Given the description of an element on the screen output the (x, y) to click on. 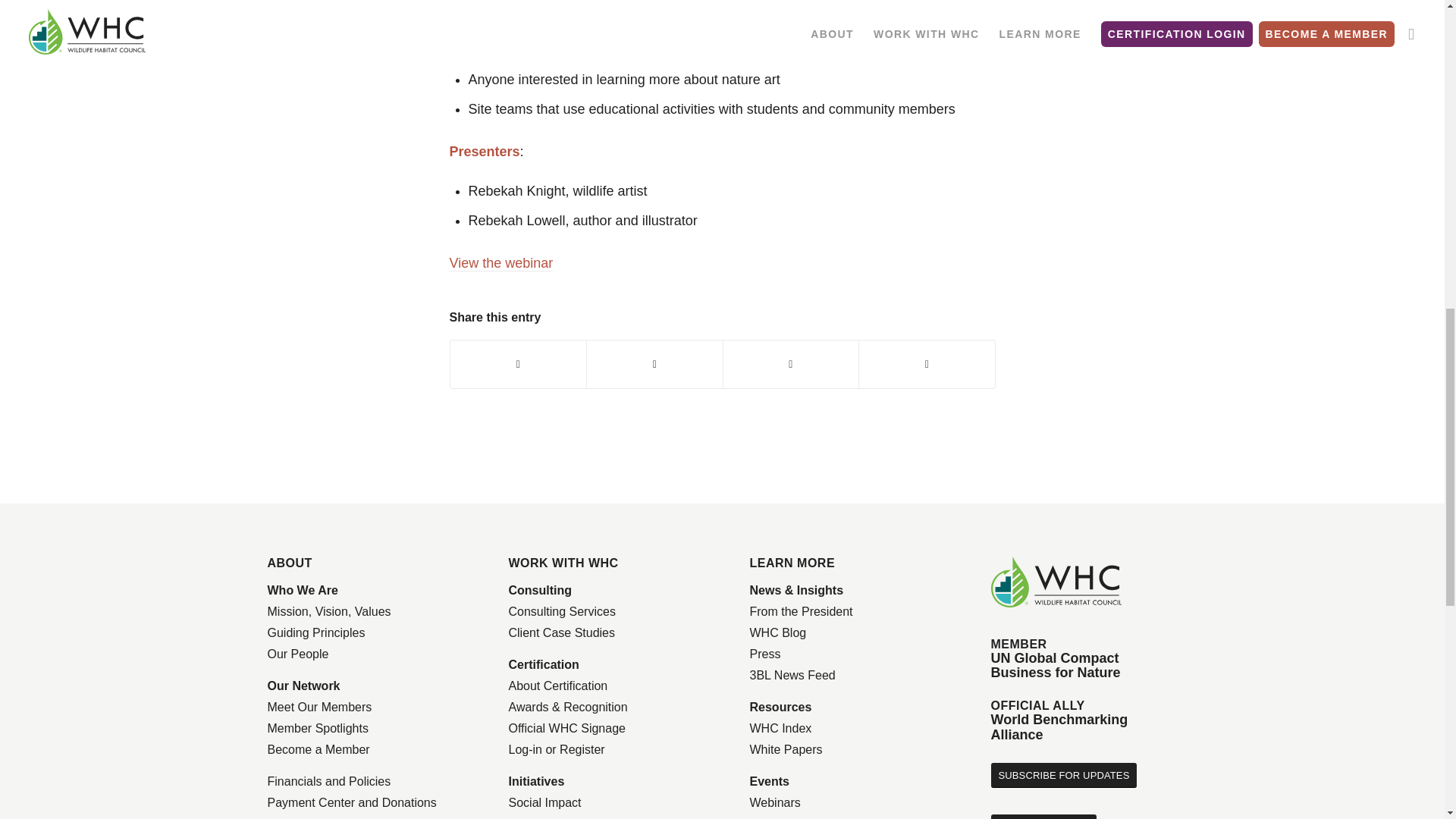
whc-logo-color (1055, 581)
